Given the description of an element on the screen output the (x, y) to click on. 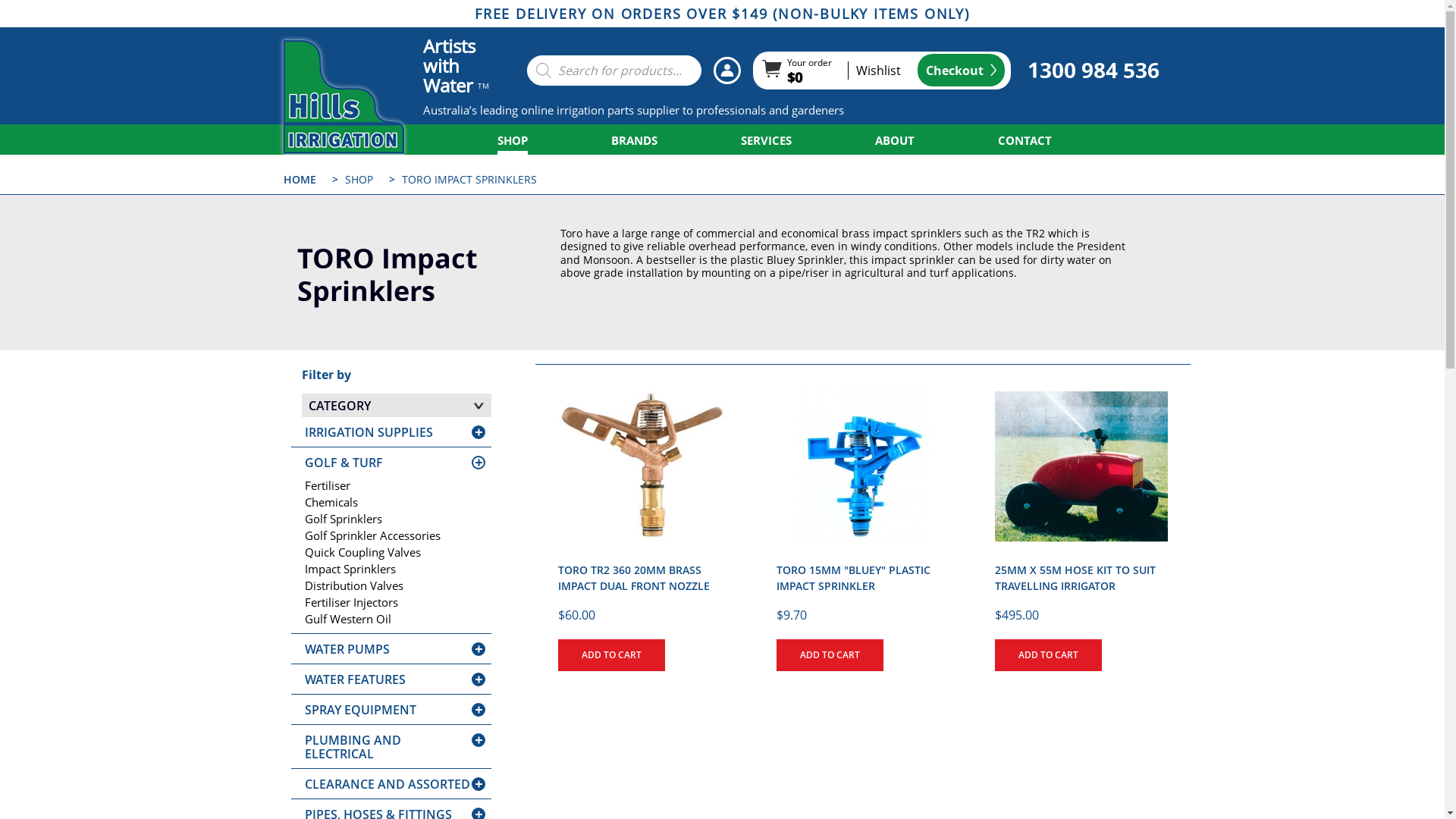
Fertiliser Element type: text (391, 484)
Quick Coupling Valves Element type: text (391, 551)
WATER PUMPS Element type: text (346, 648)
Golf Sprinklers Element type: text (391, 518)
Checkout Element type: text (960, 69)
Wishlist Element type: text (873, 70)
Distribution Valves Element type: text (391, 585)
Gulf Western Oil Element type: text (391, 618)
HOME Element type: text (299, 179)
CONTACT Element type: text (1024, 139)
SHOP Element type: text (512, 139)
SERVICES Element type: text (765, 139)
CLEARANCE AND ASSORTED Element type: text (387, 783)
SHOP Element type: text (358, 179)
WATER FEATURES Element type: text (354, 679)
1300 984 536 Element type: text (1092, 70)
Fertiliser Injectors Element type: text (391, 601)
ABOUT Element type: text (894, 139)
TORO 15MM "BLUEY" PLASTIC IMPACT SPRINKLER
$9.70
ADD TO CART Element type: text (862, 517)
GOLF & TURF Element type: text (343, 462)
Golf Sprinkler Accessories Element type: text (391, 535)
IRRIGATION SUPPLIES Element type: text (368, 431)
Chemicals Element type: text (391, 501)
BRANDS Element type: text (634, 139)
PLUMBING AND ELECTRICAL Element type: text (352, 746)
SPRAY EQUIPMENT Element type: text (360, 709)
Impact Sprinklers Element type: text (391, 568)
